Given the description of an element on the screen output the (x, y) to click on. 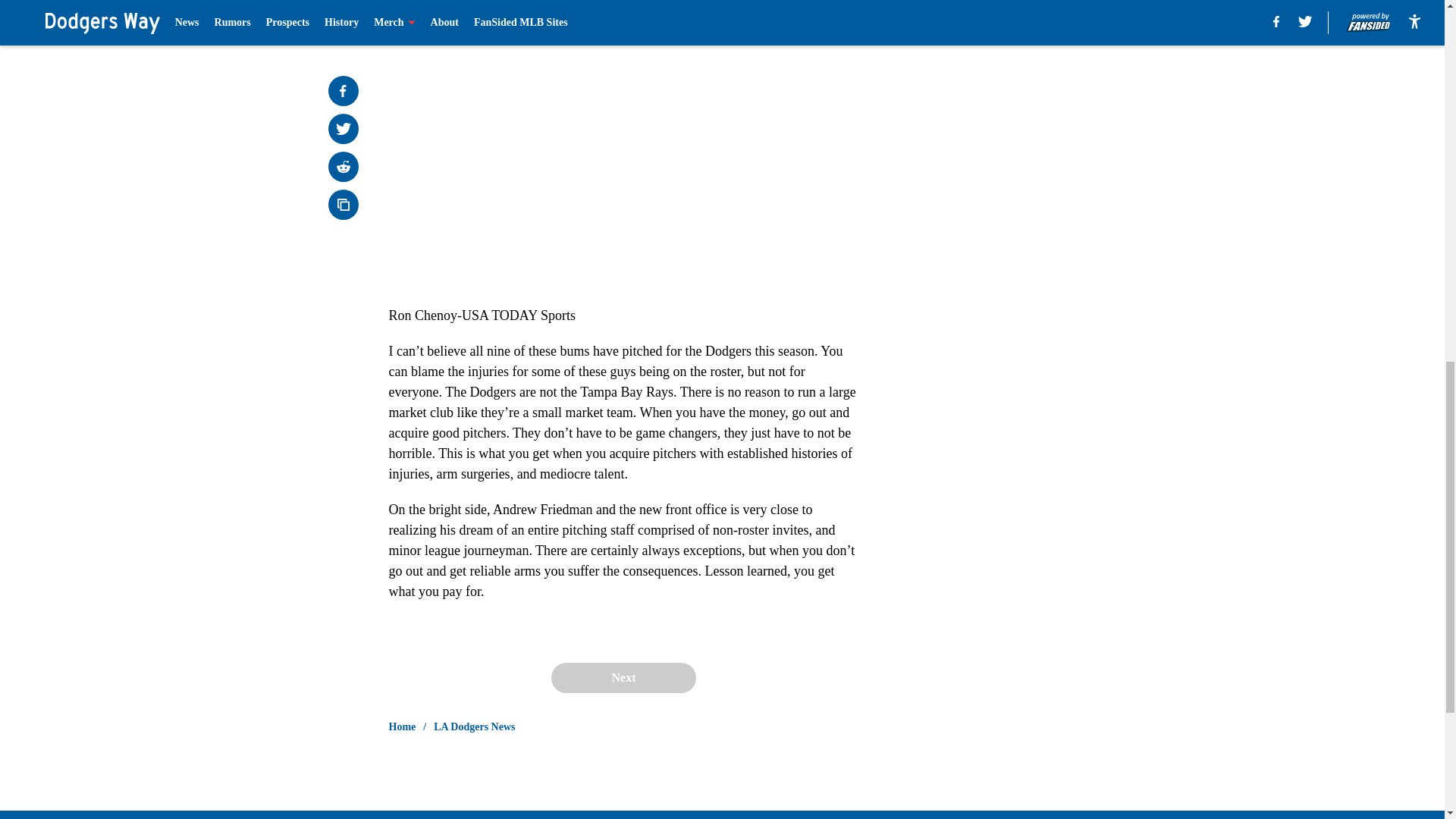
LA Dodgers News (474, 726)
Next (813, 5)
Home (401, 726)
Prev (433, 5)
Next (622, 677)
